Given the description of an element on the screen output the (x, y) to click on. 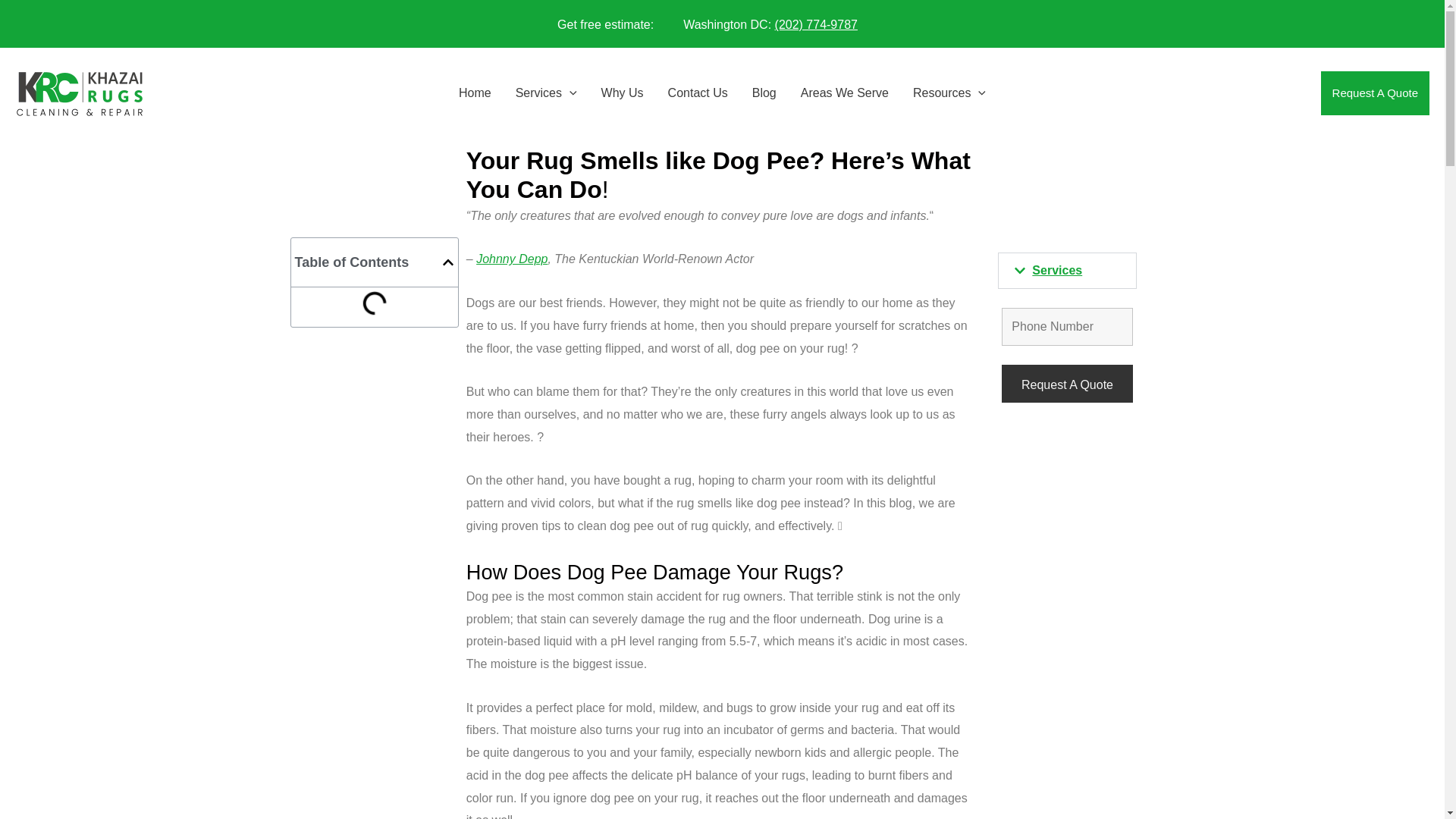
Blog (764, 92)
Services (546, 92)
Areas We Serve (845, 92)
Why Us (622, 92)
Request A Quote (1066, 383)
Contact Us (697, 92)
Resources (949, 92)
Home (474, 92)
